Given the description of an element on the screen output the (x, y) to click on. 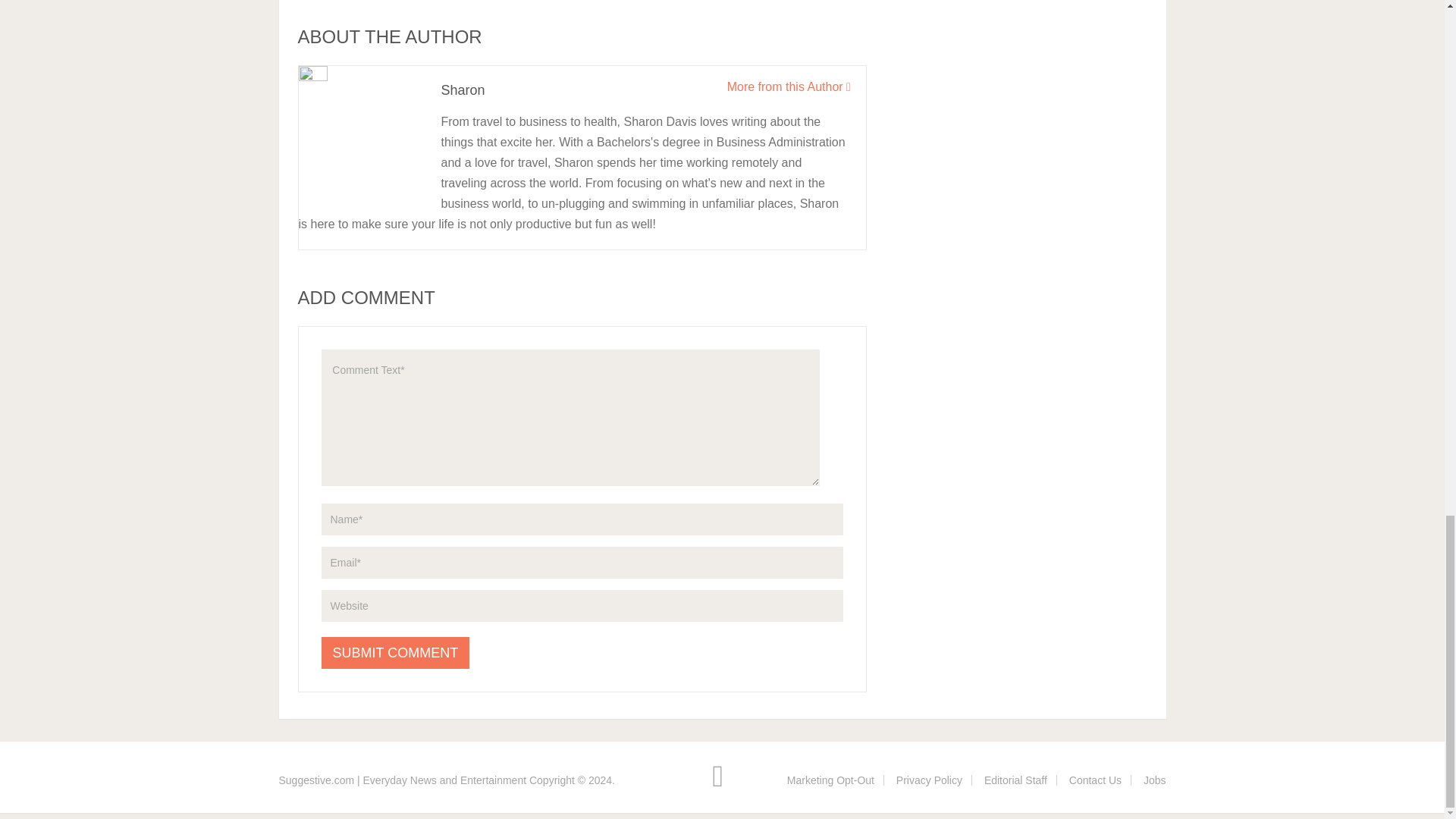
Submit Comment (395, 653)
